Given the description of an element on the screen output the (x, y) to click on. 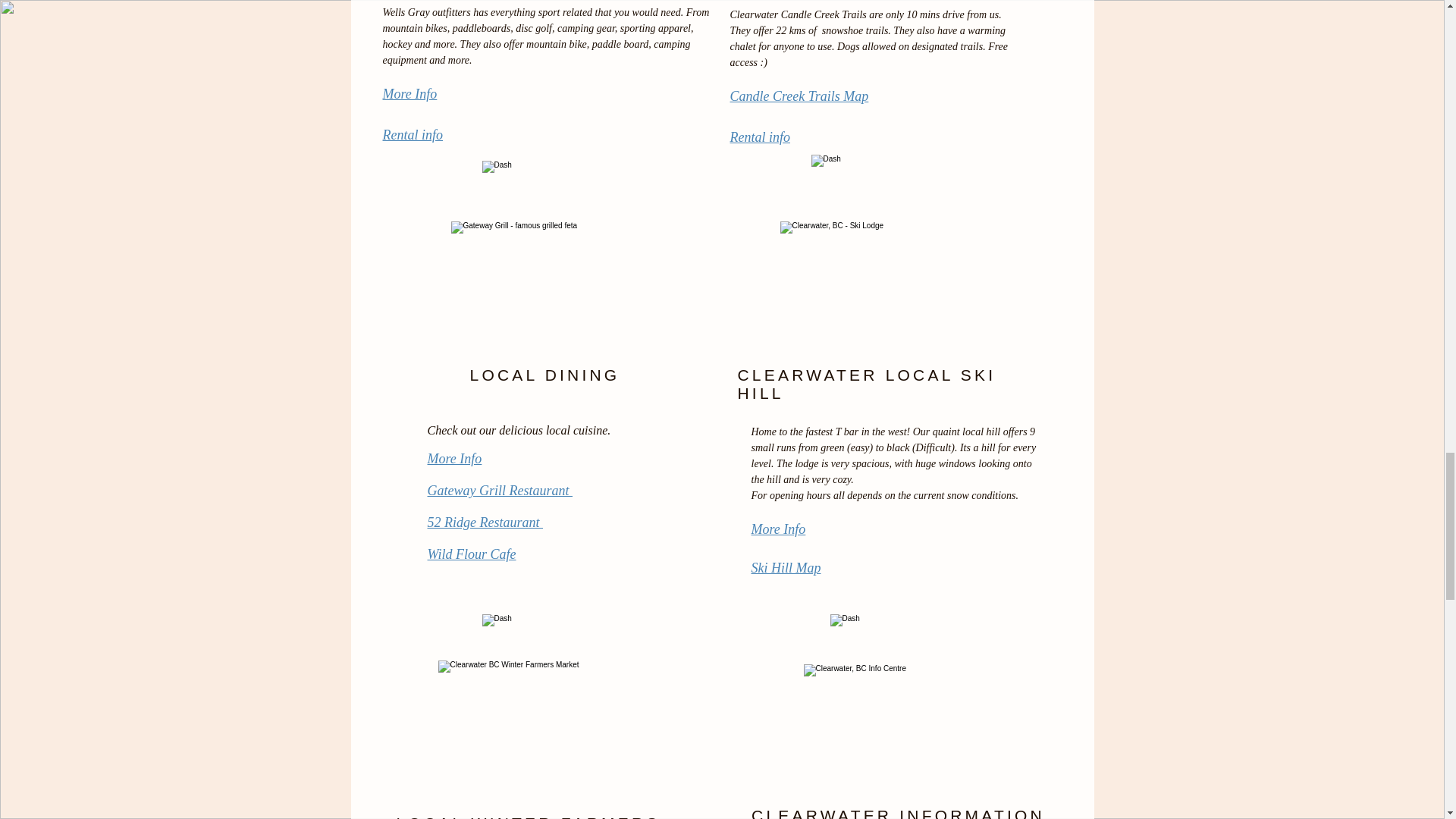
More Info (408, 93)
Rental info (411, 134)
Gateway Grill Restaurant  (500, 490)
52 Ridge Restaurant  (485, 522)
More Info (454, 458)
Rental info (759, 136)
More Info (778, 529)
Wild Flour Cafe (472, 554)
Candle Creek Trails Map (798, 96)
Ski Hill Map (786, 567)
